Given the description of an element on the screen output the (x, y) to click on. 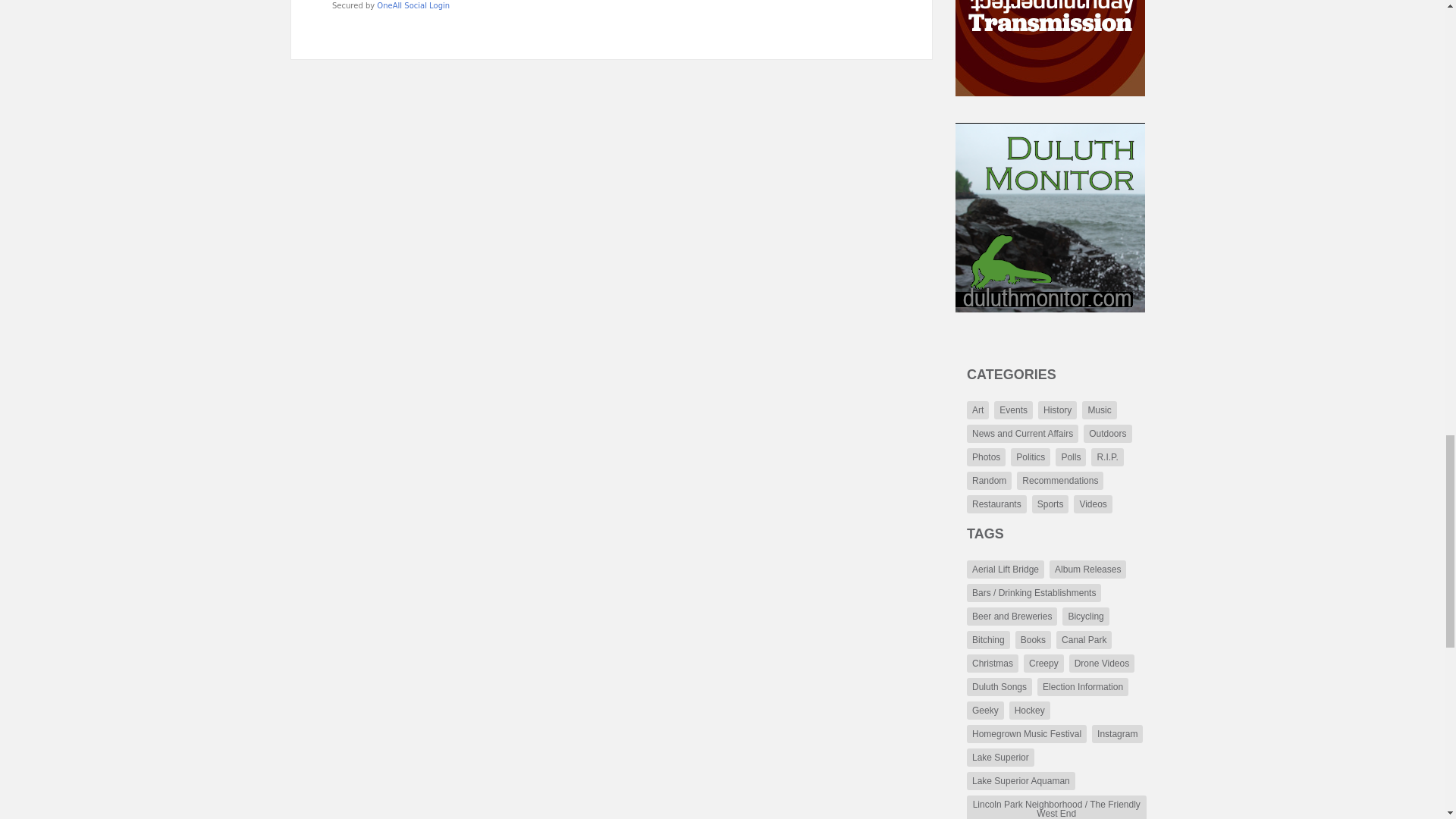
Login with Social Networks (612, 6)
